Given the description of an element on the screen output the (x, y) to click on. 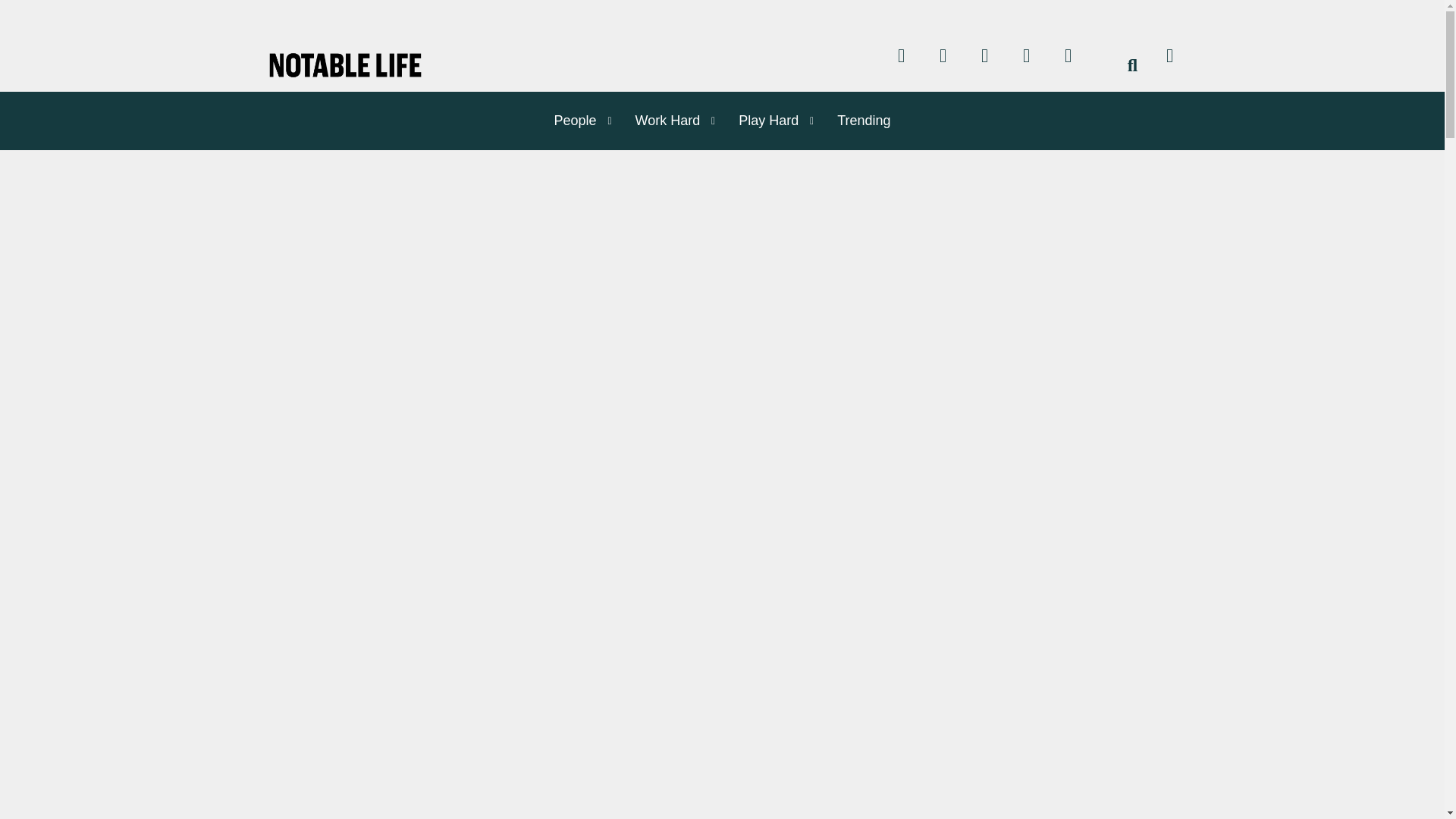
Trending (857, 120)
Work Hard (661, 120)
Play Hard (762, 120)
People (568, 120)
